Given the description of an element on the screen output the (x, y) to click on. 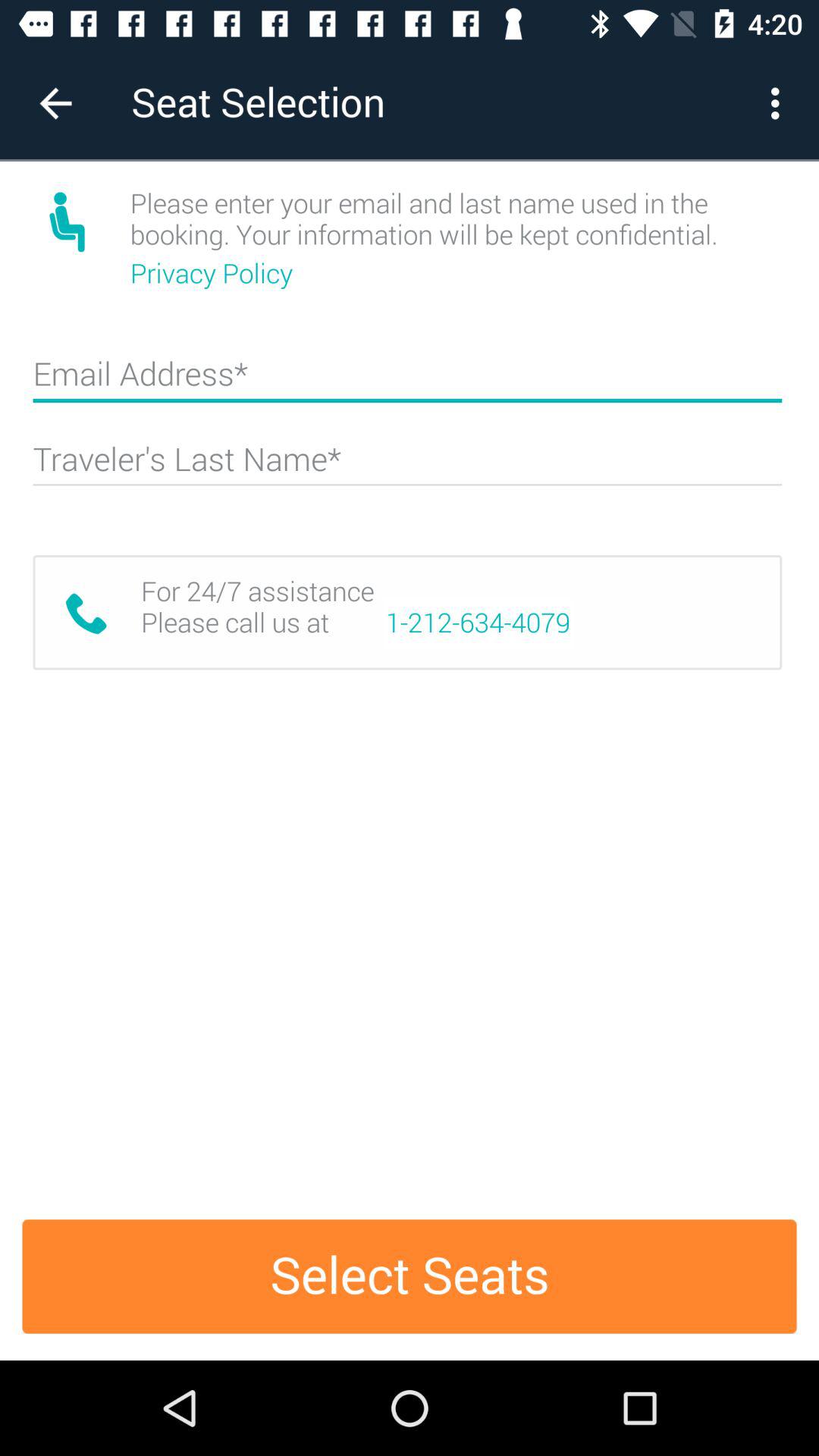
turn on the 1 212 634 (477, 622)
